Given the description of an element on the screen output the (x, y) to click on. 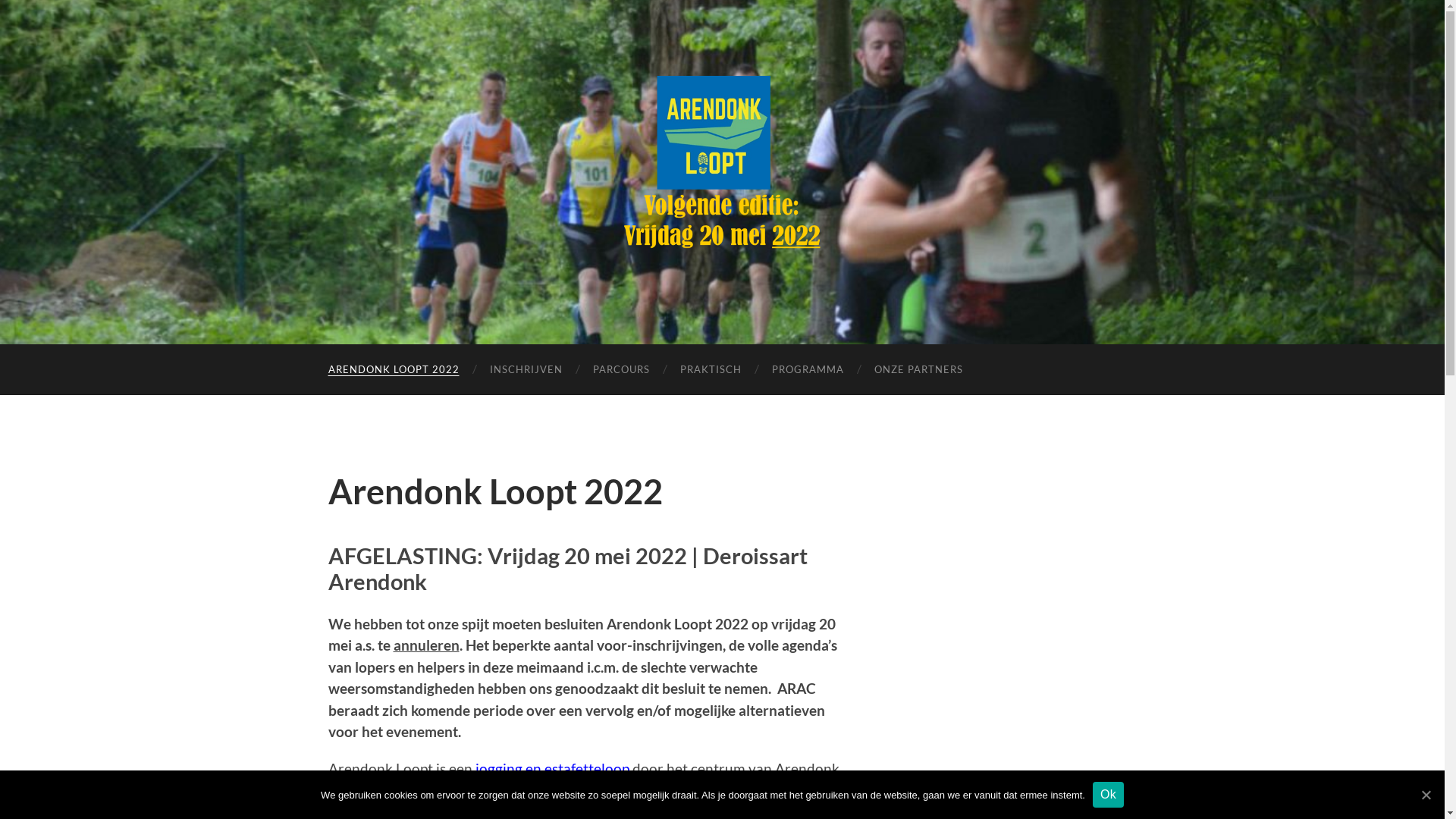
PROGRAMMA Element type: text (807, 369)
PRAKTISCH Element type: text (710, 369)
INSCHRIJVEN Element type: text (525, 369)
PARCOURS Element type: text (621, 369)
Ok Element type: text (1107, 794)
Arendonk Loopt! Element type: text (721, 170)
ONZE PARTNERS Element type: text (917, 369)
